Given the description of an element on the screen output the (x, y) to click on. 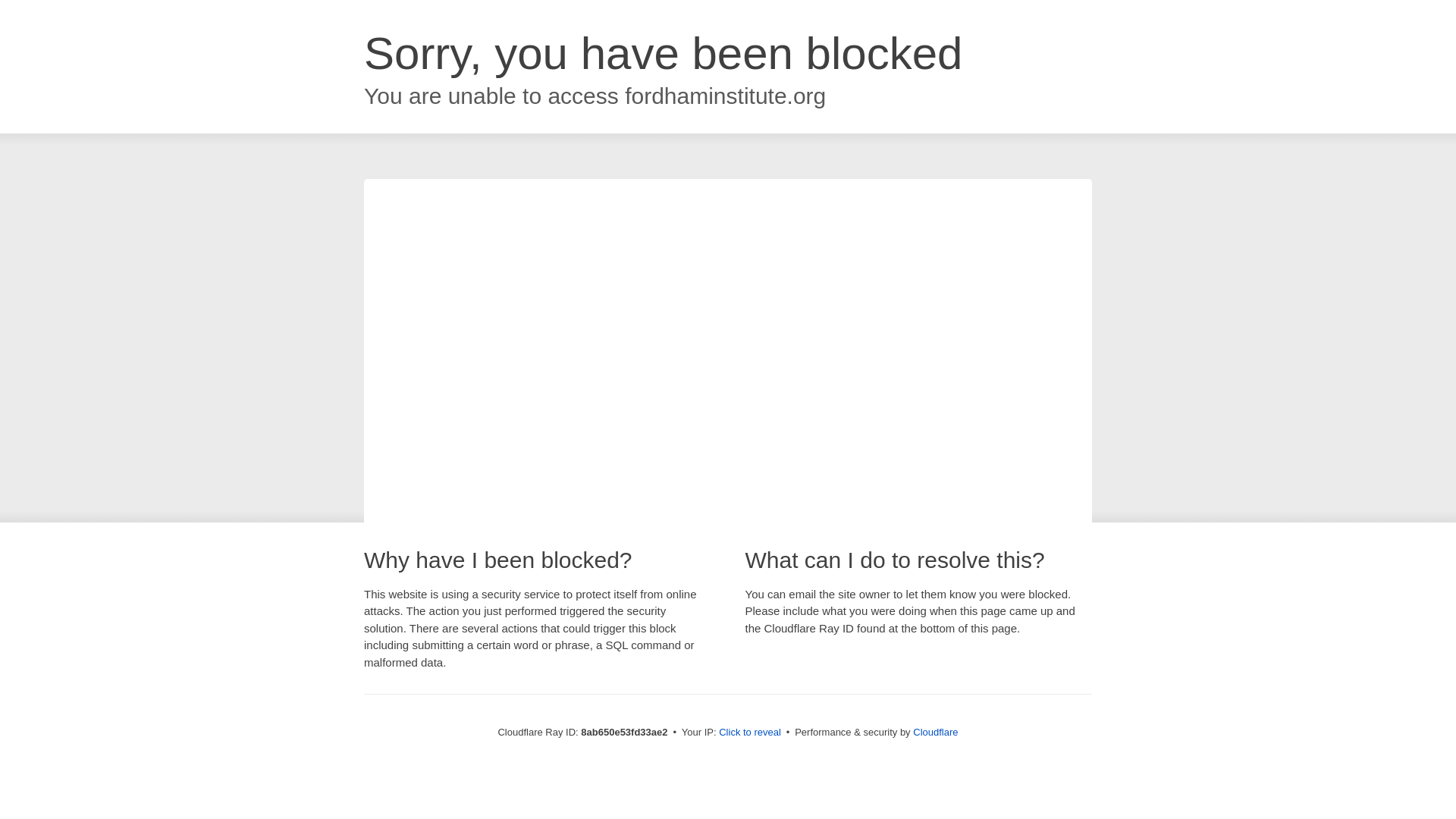
Click to reveal (749, 732)
Cloudflare (935, 731)
